Given the description of an element on the screen output the (x, y) to click on. 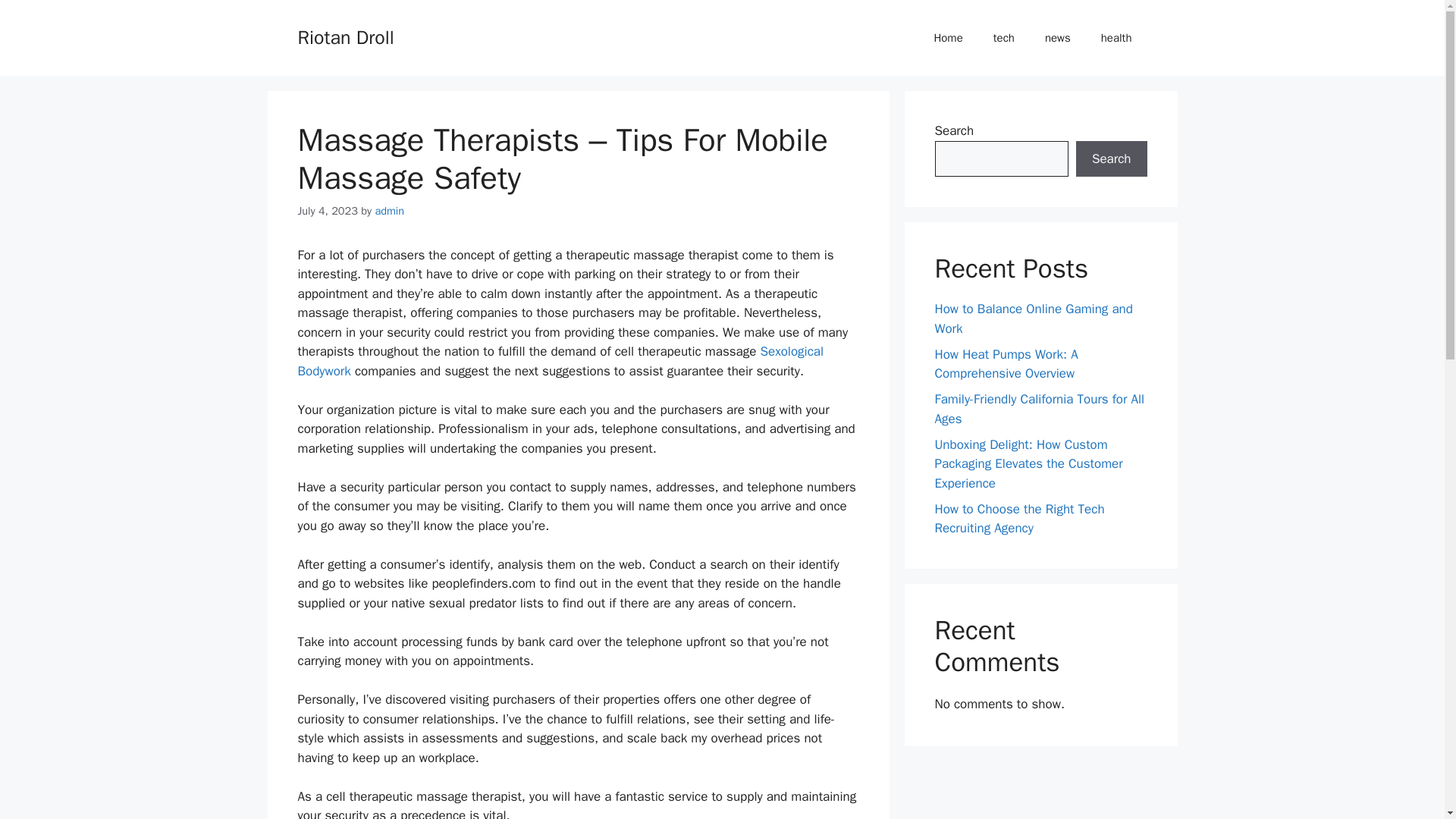
How to Balance Online Gaming and Work (1033, 318)
health (1116, 37)
Home (947, 37)
tech (1003, 37)
Family-Friendly California Tours for All Ages (1039, 408)
Search (1111, 158)
View all posts by admin (389, 210)
admin (389, 210)
Riotan Droll (345, 37)
Sexological Bodywork (560, 361)
How Heat Pumps Work: A Comprehensive Overview (1005, 363)
news (1057, 37)
How to Choose the Right Tech Recruiting Agency (1018, 518)
